Given the description of an element on the screen output the (x, y) to click on. 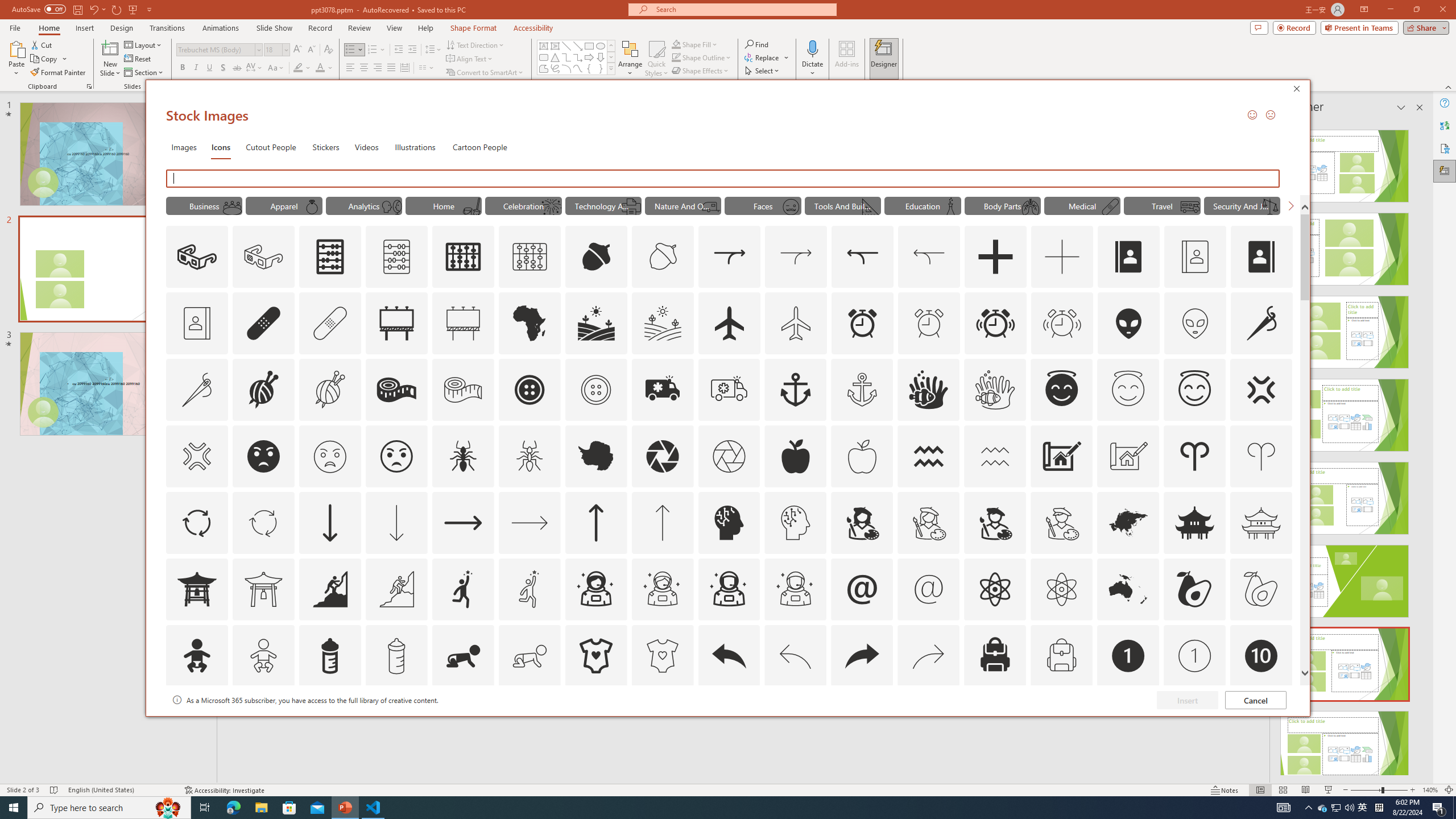
Section (144, 72)
AutomationID: Icons_Antarctica (595, 455)
AutomationID: Icons_Anchor_M (861, 389)
Cancel (1255, 700)
AutomationID: Icons (1260, 721)
